Given the description of an element on the screen output the (x, y) to click on. 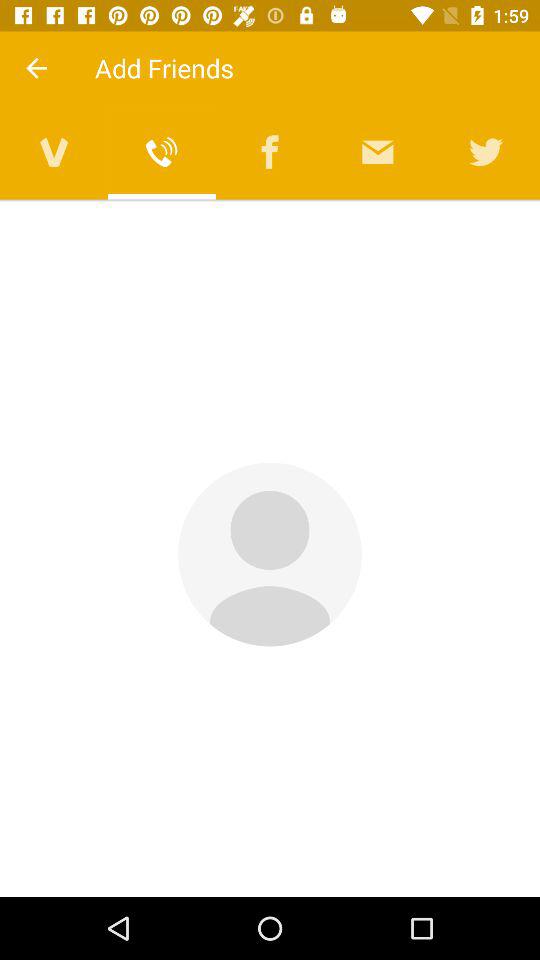
toggle messages screen (378, 152)
